Given the description of an element on the screen output the (x, y) to click on. 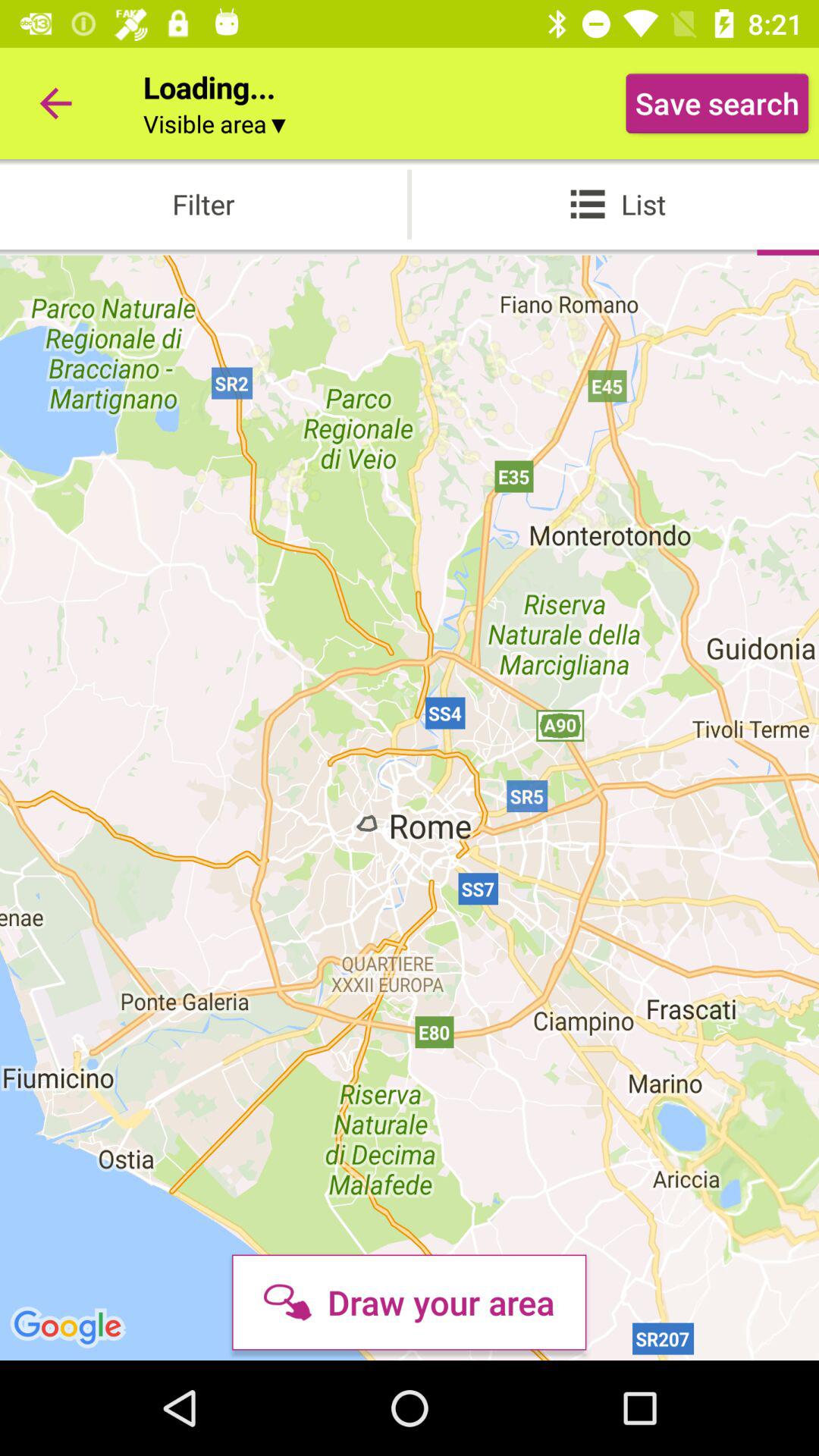
launch draw your area icon (409, 1302)
